Given the description of an element on the screen output the (x, y) to click on. 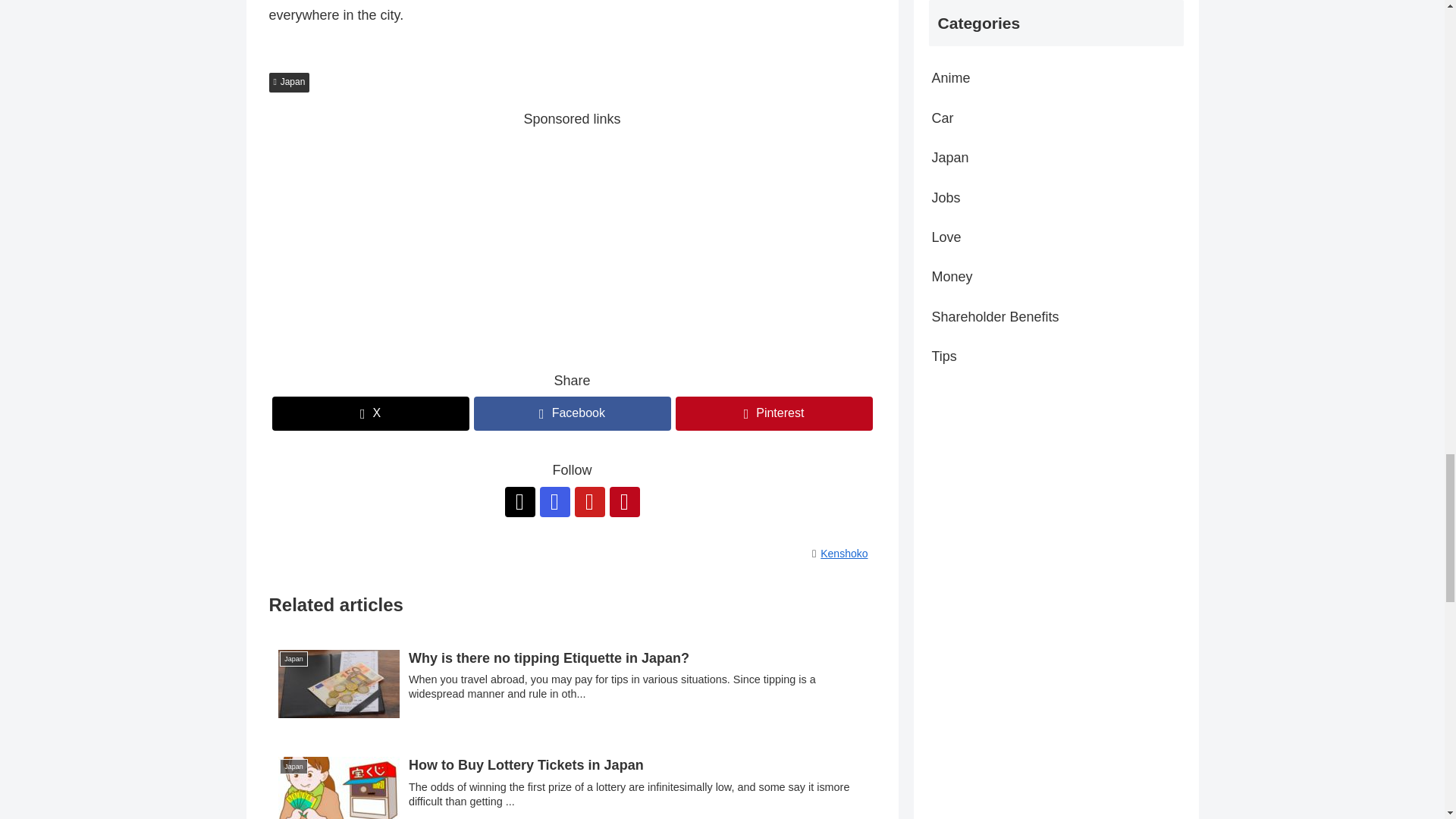
Advertisement (571, 237)
Follow Pinterest (625, 501)
X (369, 413)
How to Buy Lottery Tickets in Japan (571, 782)
Share on X (369, 413)
Follow Instagram (555, 501)
Japan (287, 82)
Pinterest (773, 413)
Why is there no tipping Etiquette in Japan? (571, 686)
Kenshoko (846, 553)
Share on Facebook (571, 413)
Follow X (520, 501)
Share on Pinterest (773, 413)
